Given the description of an element on the screen output the (x, y) to click on. 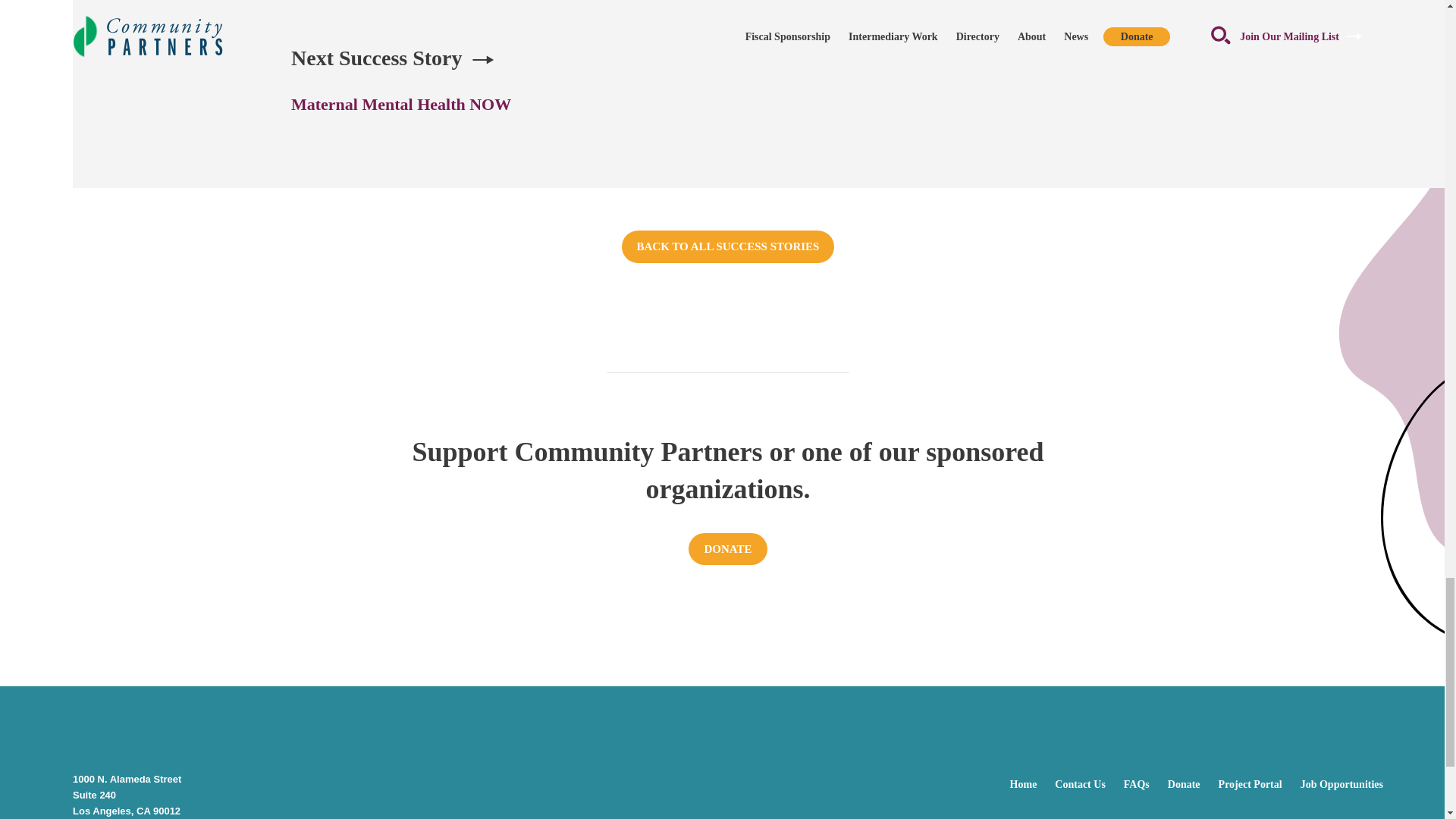
Maternal Mental Health NOW (401, 104)
